Given the description of an element on the screen output the (x, y) to click on. 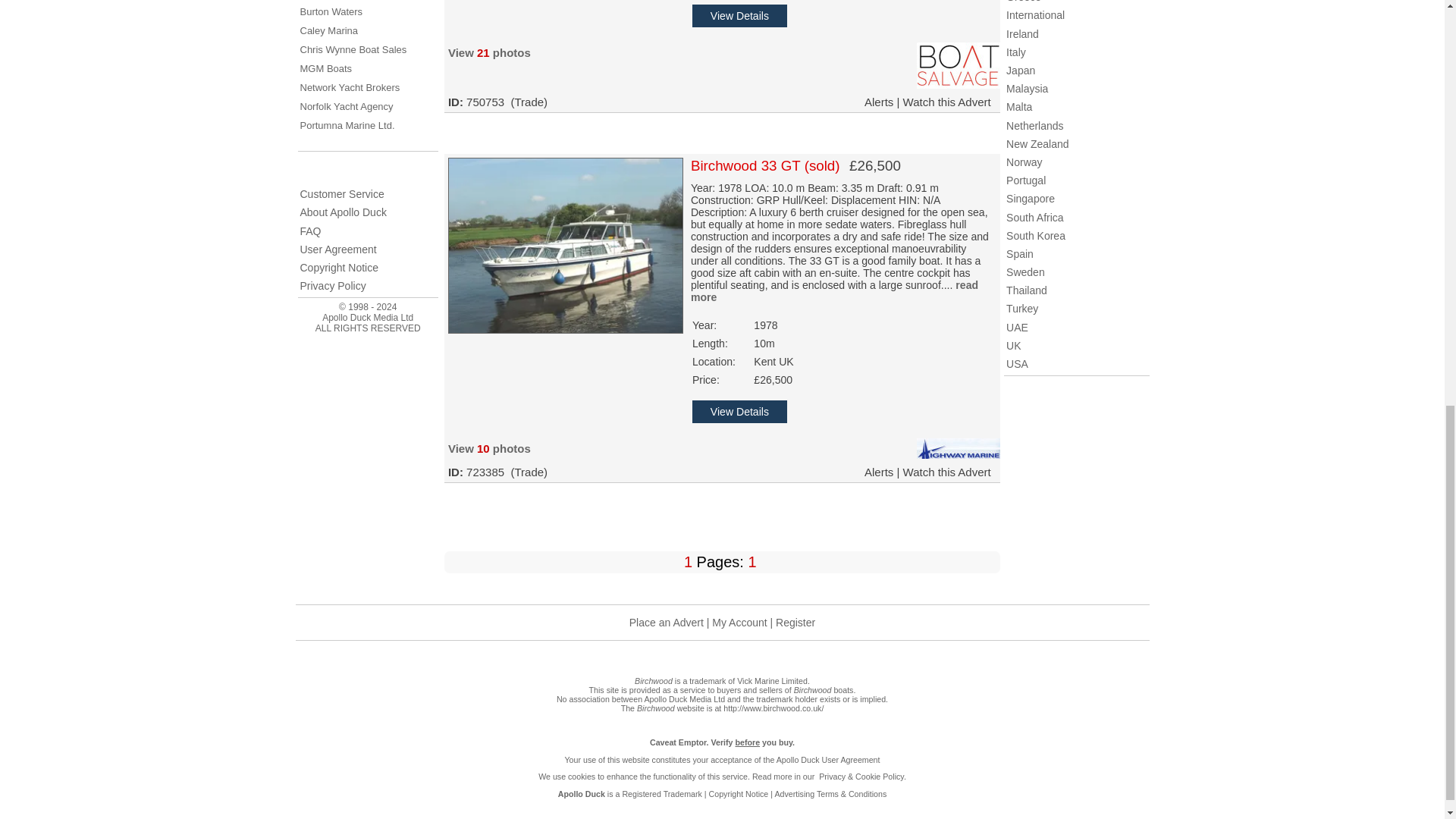
Portumna Marine Ltd., Ireland (346, 125)
Norfolk Yacht Agency, UK (346, 106)
Chris Wynne Boat Sales, Ireland (353, 49)
Network Yacht Brokers, UK (349, 87)
Burton Waters, UK (330, 11)
Caley Marina, UK (328, 30)
MGM Boats, Ireland (325, 68)
